Given the description of an element on the screen output the (x, y) to click on. 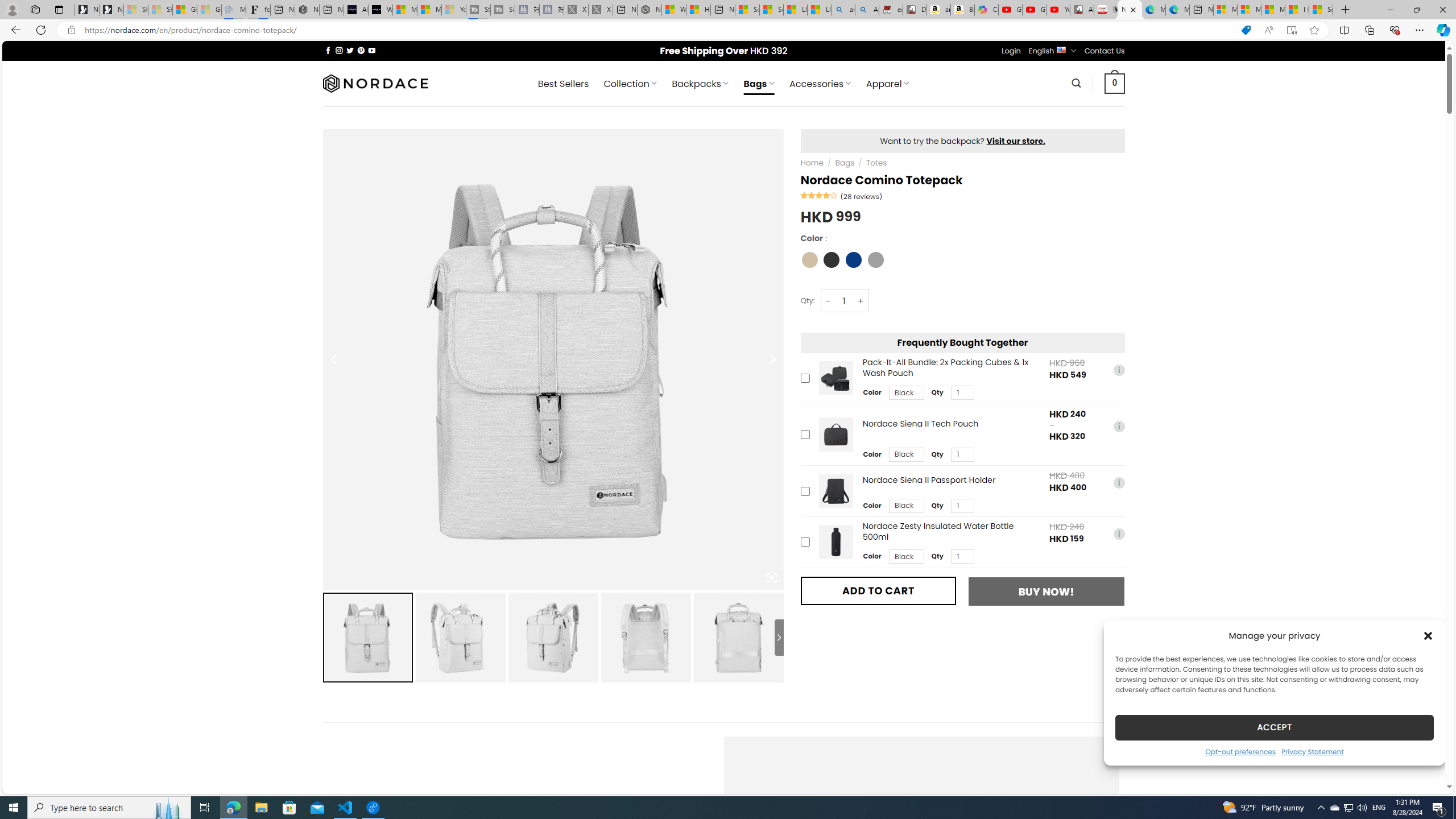
Totes (876, 162)
  Best Sellers (563, 83)
Rated 4.07 out of 5 (819, 194)
Follow on Twitter (349, 49)
Home (812, 162)
Visit our store. (1015, 140)
(28 reviews) (861, 196)
Microsoft Start Sports (404, 9)
amazon - Search (843, 9)
Nordace - #1 Japanese Best-Seller - Siena Smart Backpack (306, 9)
Enter Immersive Reader (F9) (1291, 29)
Nordace Zesty Insulated Water Bottle 500ml (835, 541)
